Given the description of an element on the screen output the (x, y) to click on. 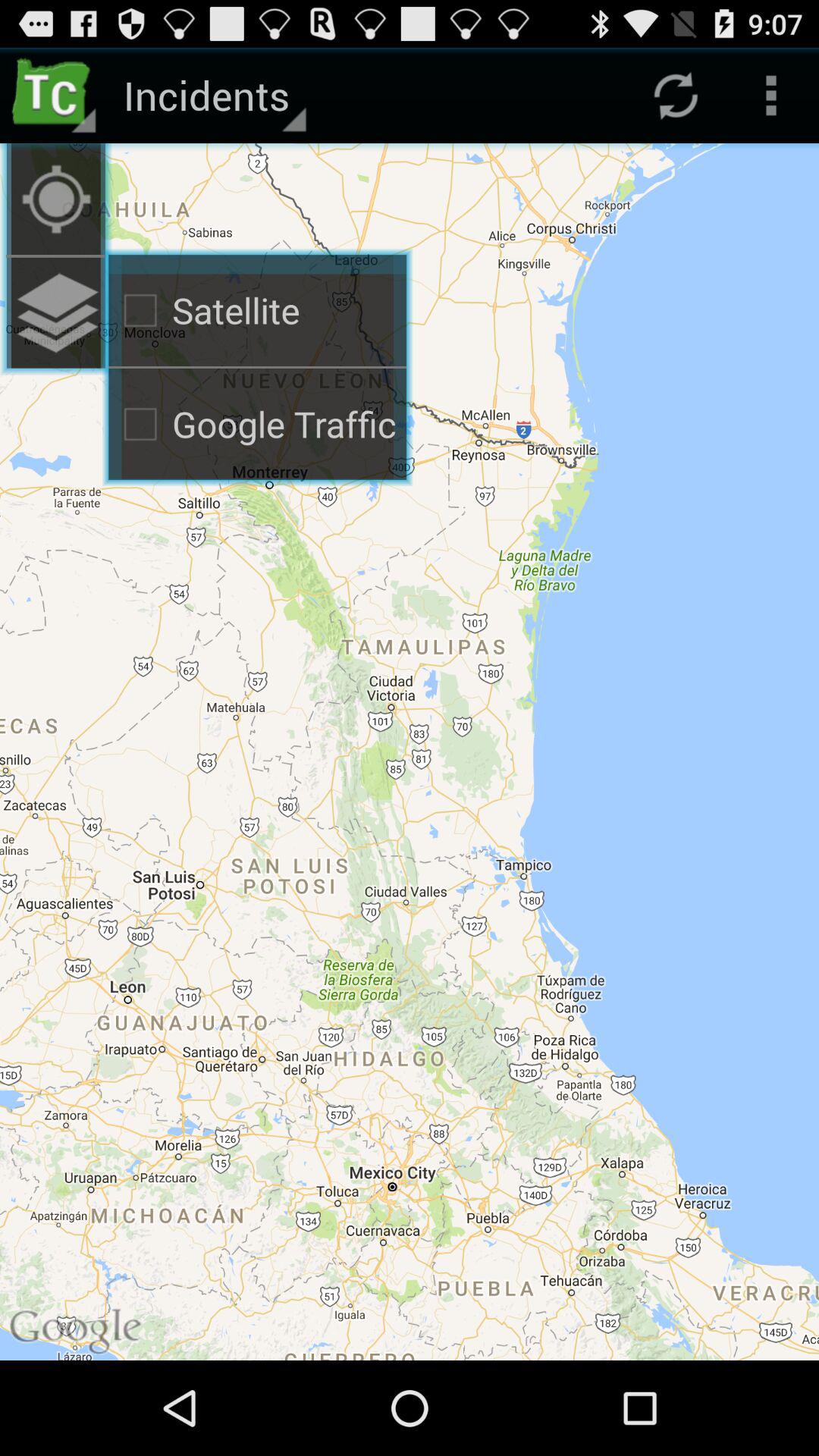
click the item next to satellite icon (55, 313)
